Given the description of an element on the screen output the (x, y) to click on. 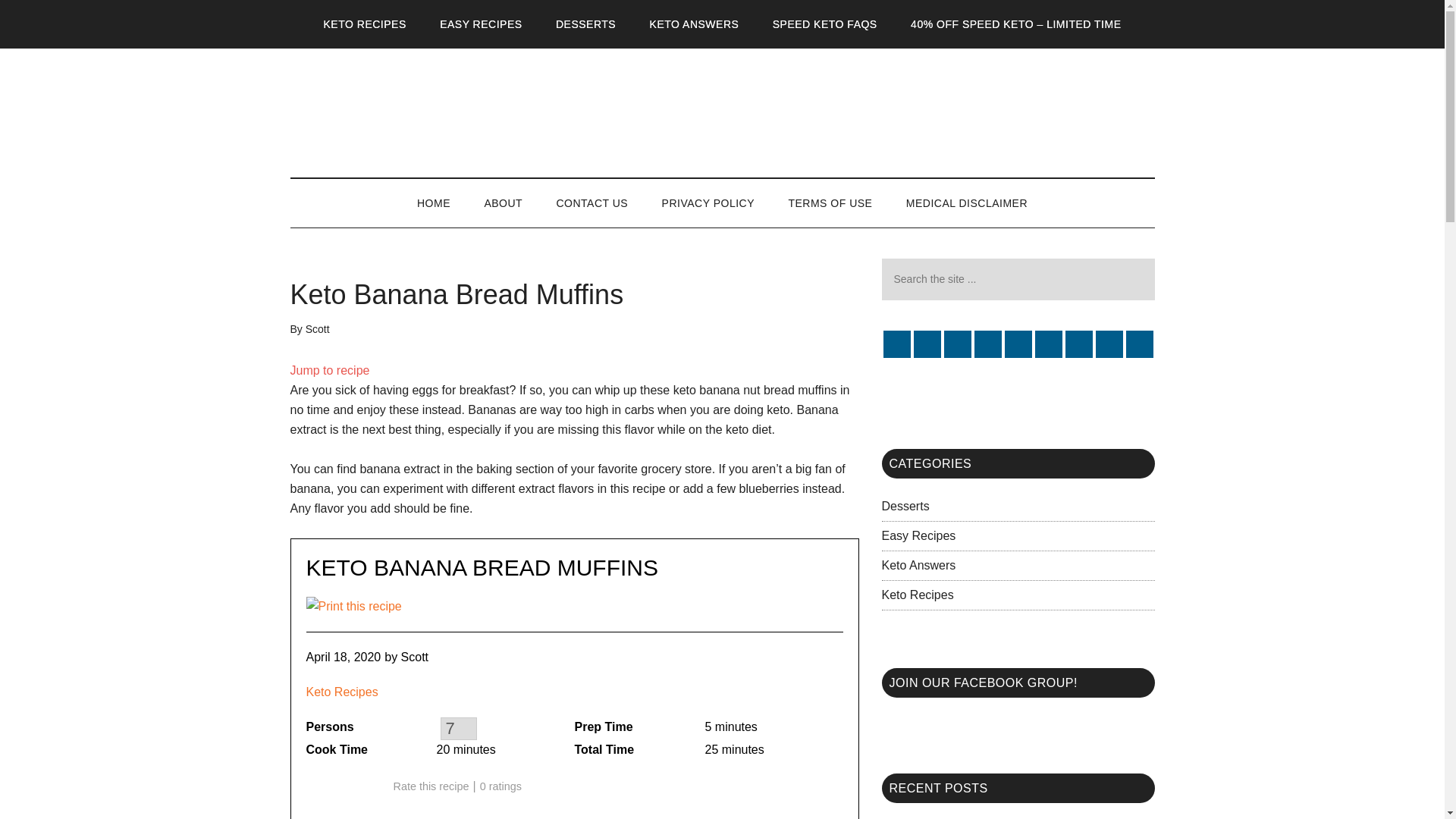
KETO RECIPES (365, 24)
Print this recipe (353, 605)
KETO ANSWERS (694, 24)
LeanKeto.com (721, 112)
EASY RECIPES (481, 24)
Keto Recipes (349, 691)
ABOUT (502, 203)
